Given the description of an element on the screen output the (x, y) to click on. 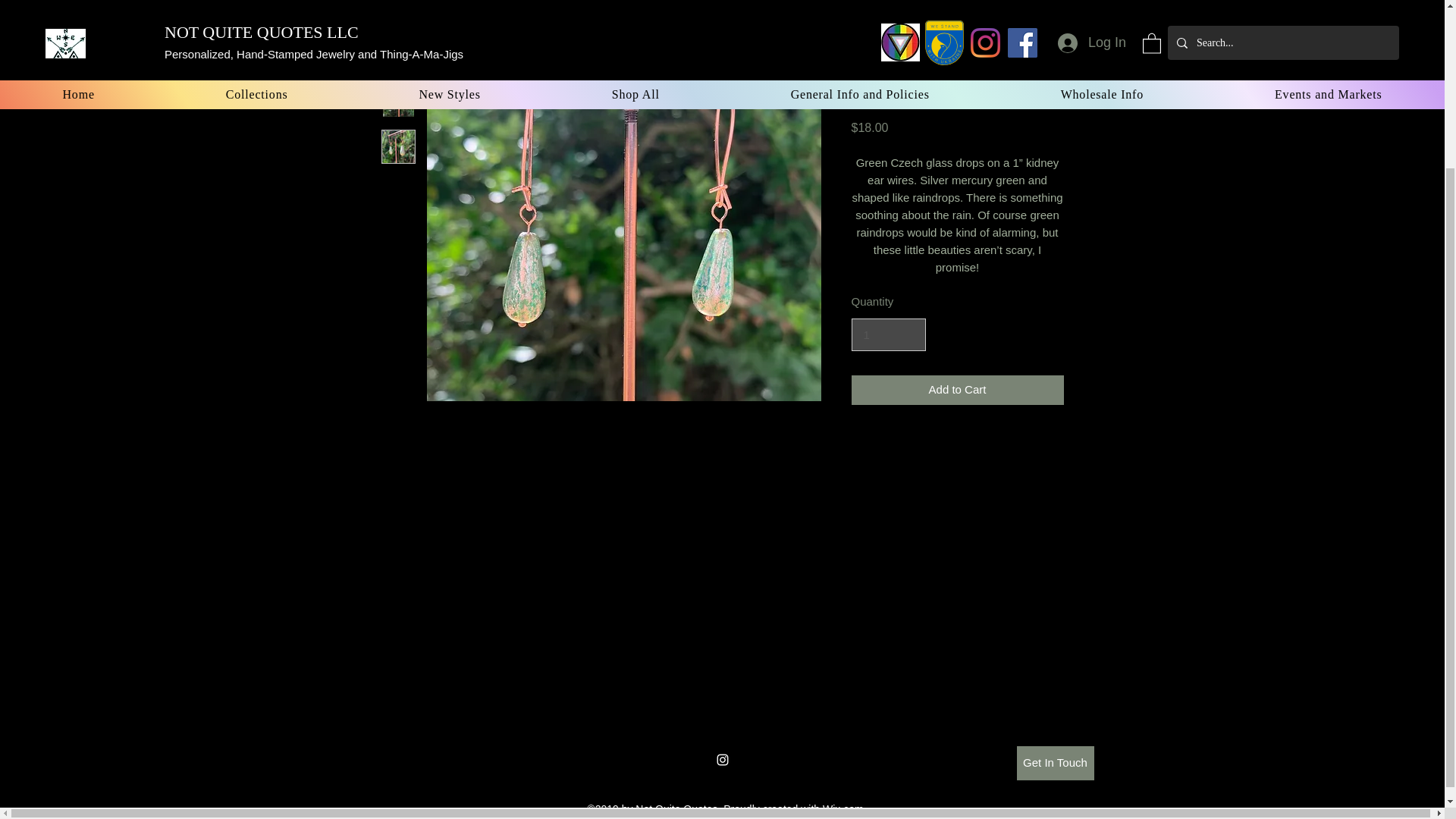
1 (887, 335)
Add to Cart (956, 389)
Get In Touch (1054, 763)
